Given the description of an element on the screen output the (x, y) to click on. 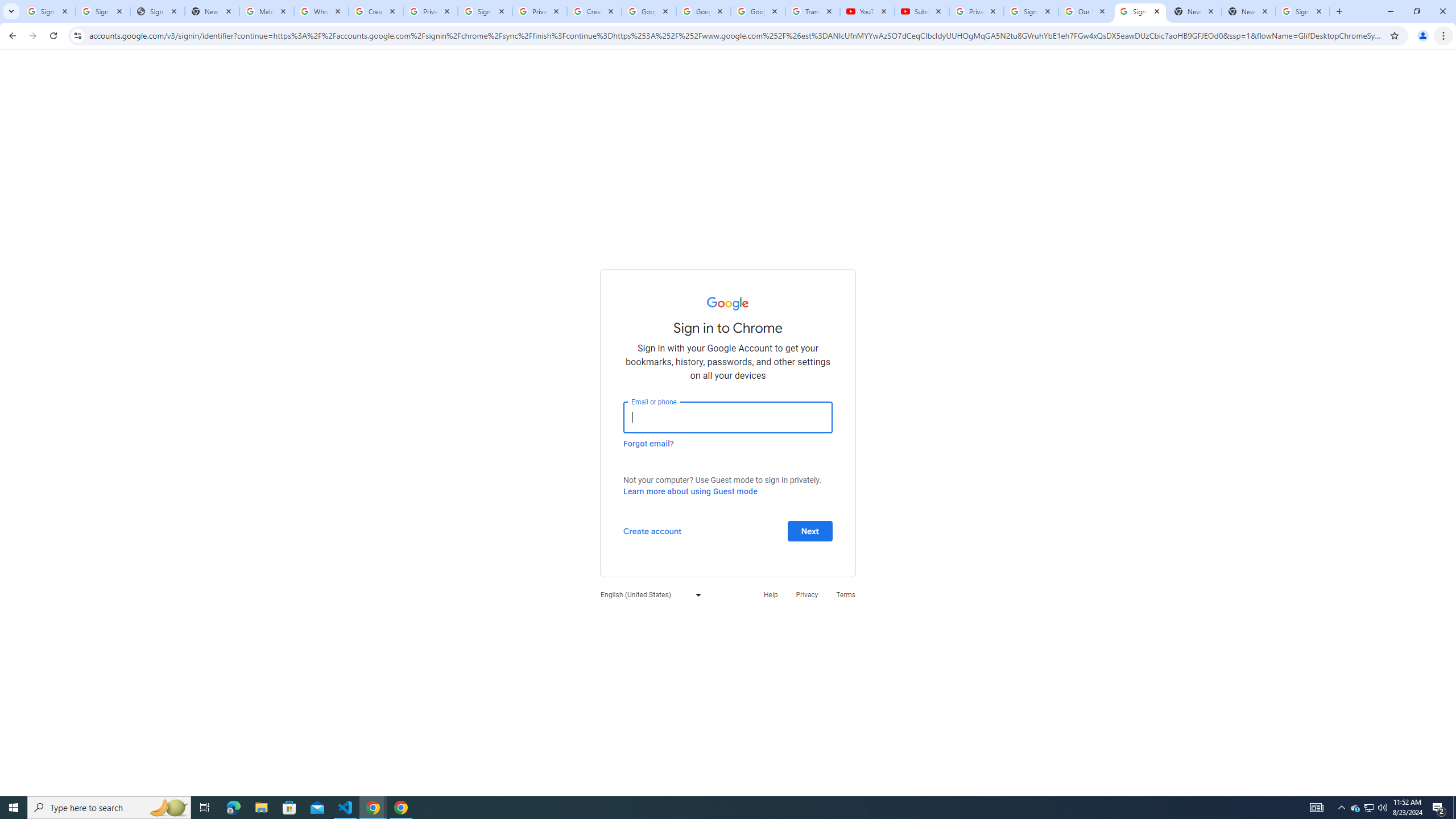
New Tab (1249, 11)
Sign in - Google Accounts (1303, 11)
Create your Google Account (375, 11)
English (United States) (647, 594)
Create your Google Account (594, 11)
Email or phone (727, 417)
